Given the description of an element on the screen output the (x, y) to click on. 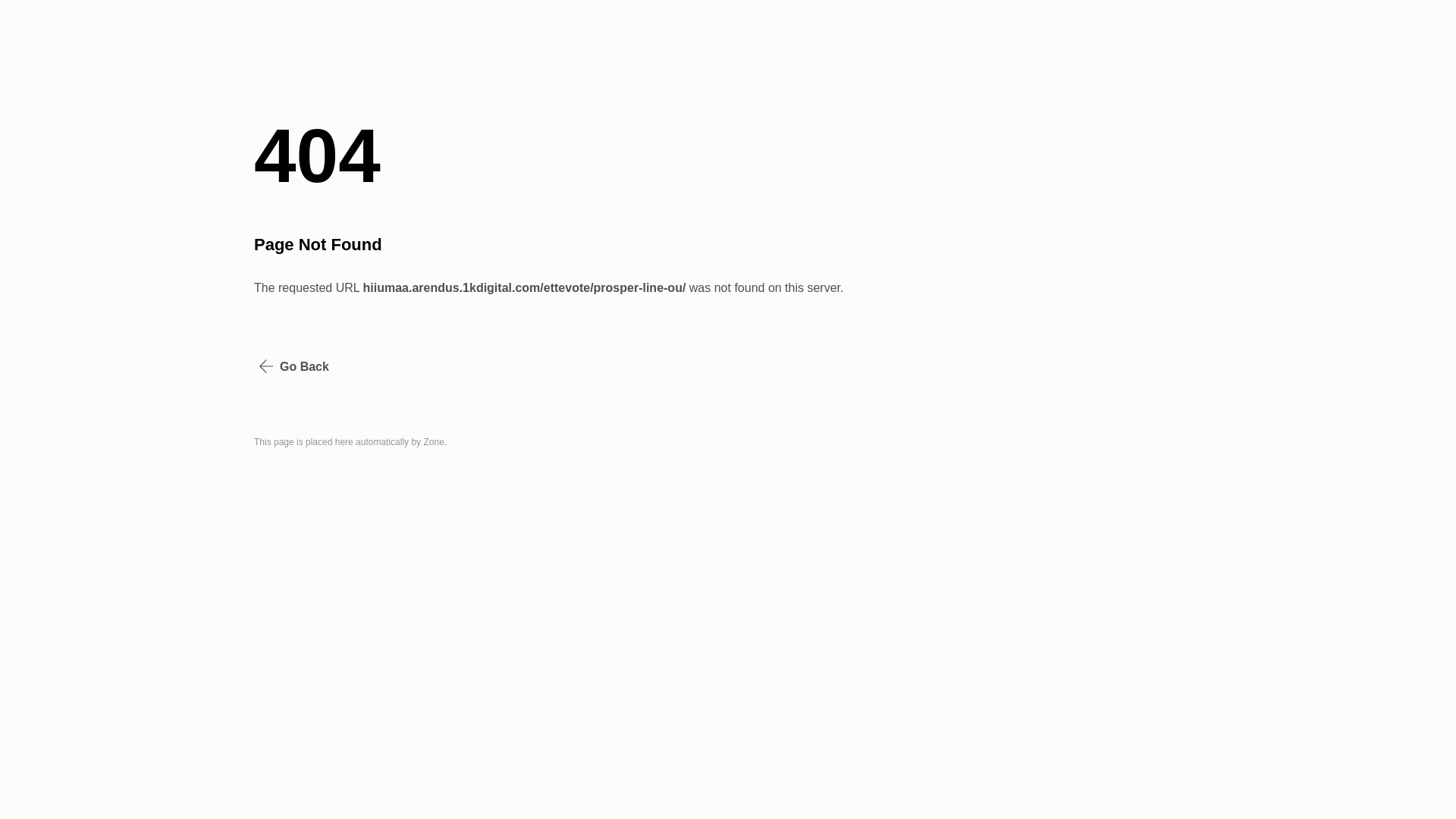
Go Back Element type: text (293, 366)
